Given the description of an element on the screen output the (x, y) to click on. 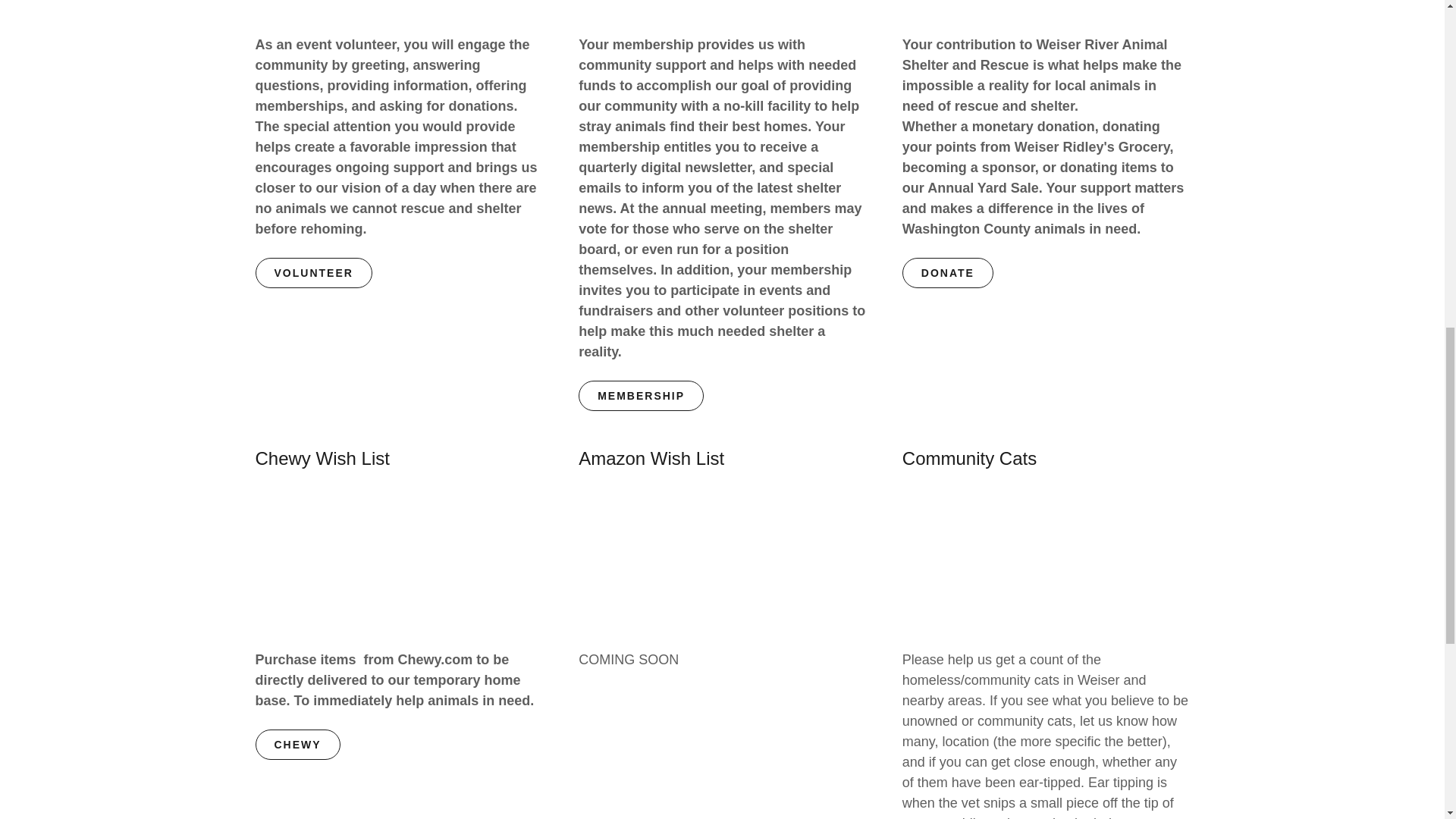
VOLUNTEER (312, 272)
MEMBERSHIP (640, 395)
DONATE (947, 272)
CHEWY (296, 744)
